Given the description of an element on the screen output the (x, y) to click on. 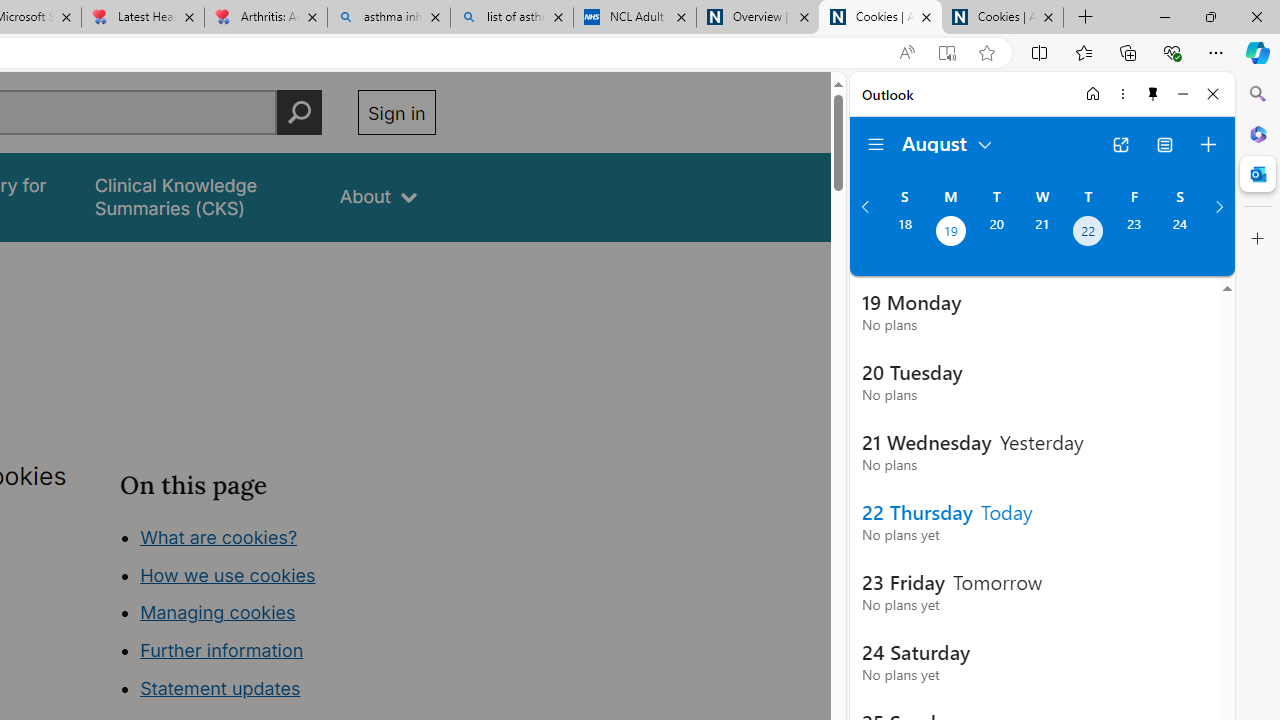
Search (1258, 94)
Enter Immersive Reader (F9) (946, 53)
About (378, 196)
Create event (1208, 144)
Unpin side pane (1153, 93)
Split screen (1039, 52)
Monday, August 19, 2024. Date selected.  (950, 233)
Home (1093, 93)
What are cookies? (218, 536)
How we use cookies (227, 574)
